Given the description of an element on the screen output the (x, y) to click on. 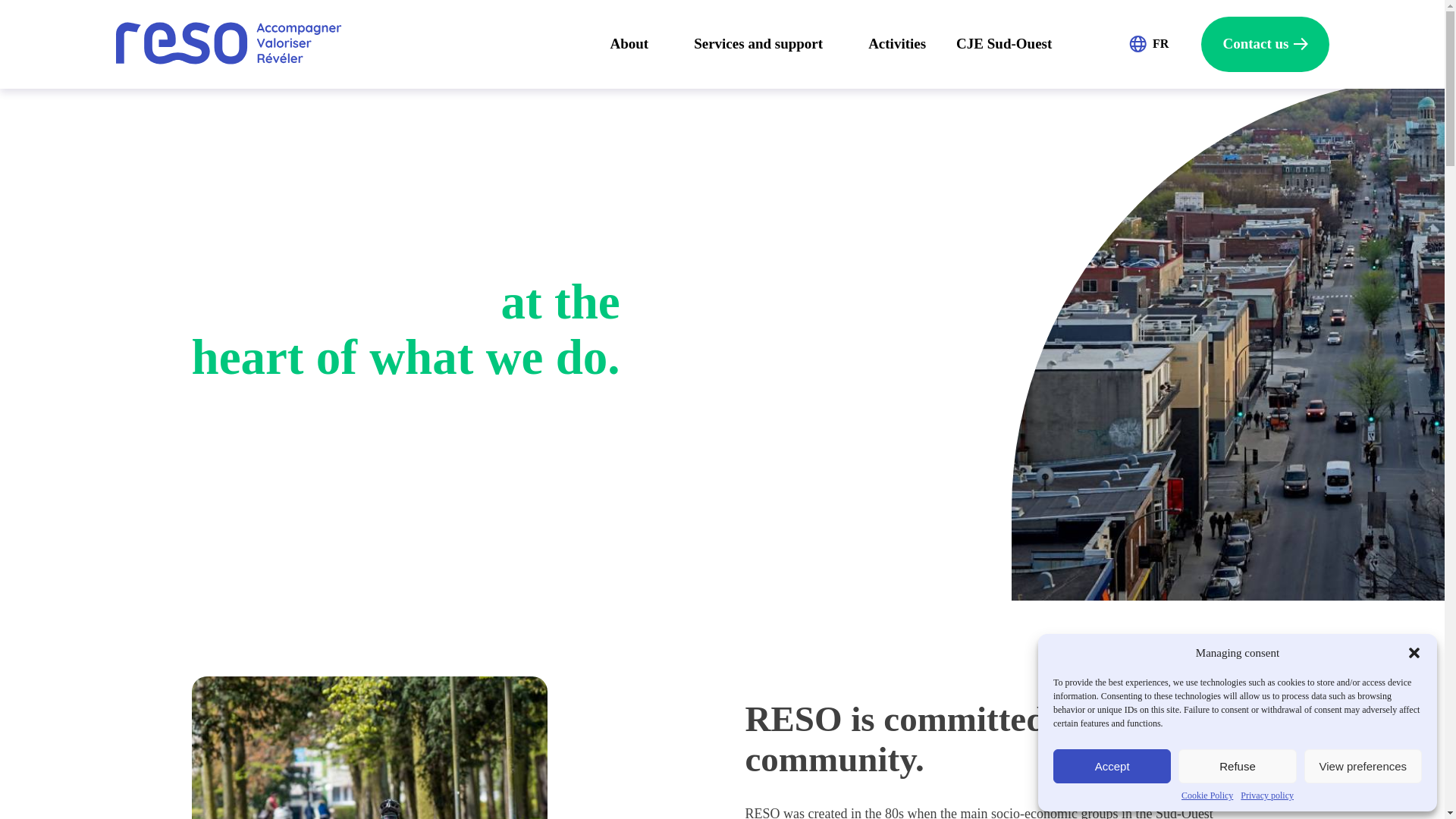
Cookie Policy (1206, 795)
FR (1164, 44)
CJE Sud-Ouest (1003, 43)
View preferences (1363, 765)
Contact us (1264, 44)
Services and support (758, 43)
Activities (896, 43)
Accept (1111, 765)
Privacy policy (1267, 795)
Refuse (1236, 765)
